Given the description of an element on the screen output the (x, y) to click on. 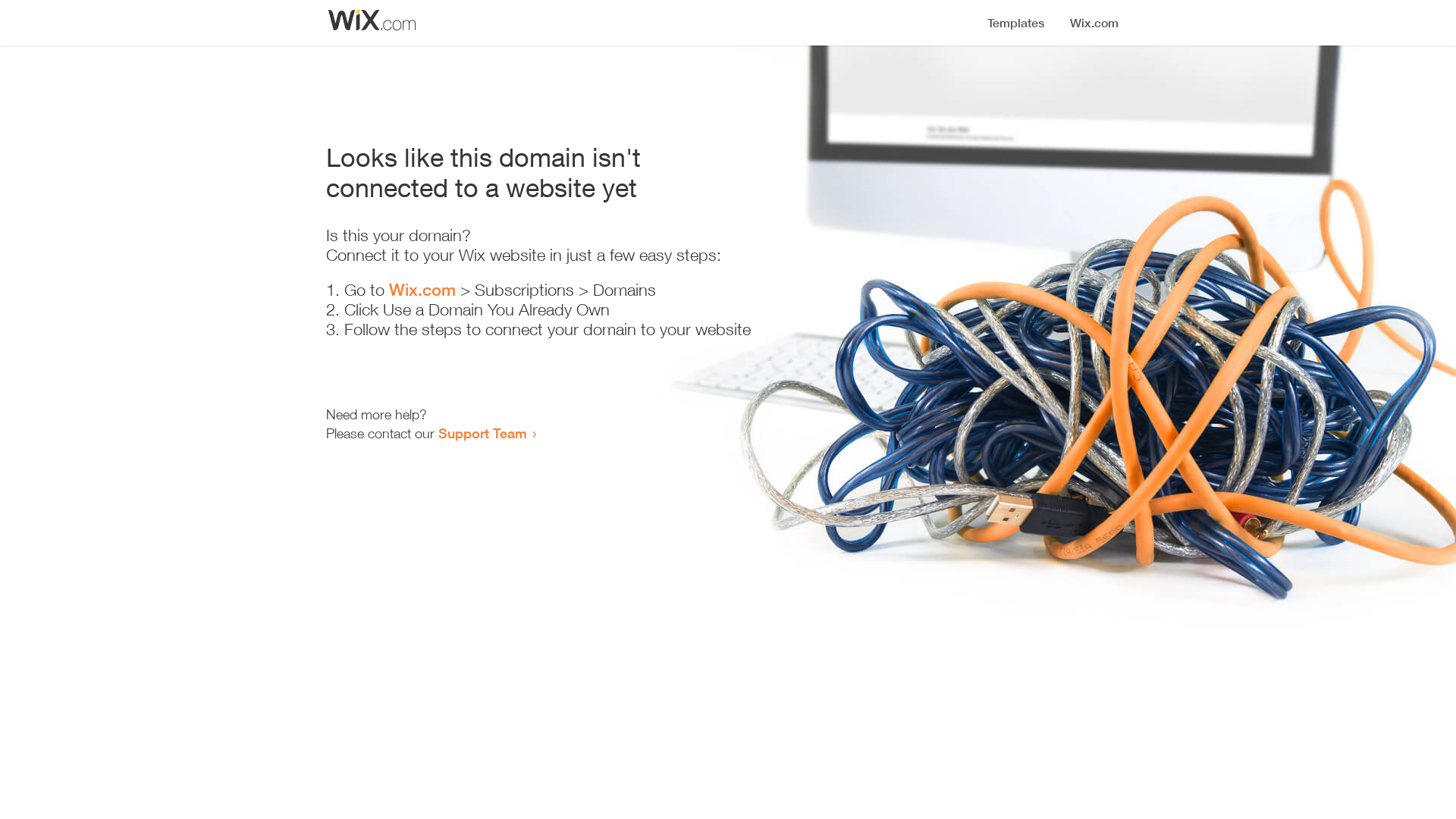
Wix.com Element type: text (422, 289)
Support Team Element type: text (482, 432)
